Given the description of an element on the screen output the (x, y) to click on. 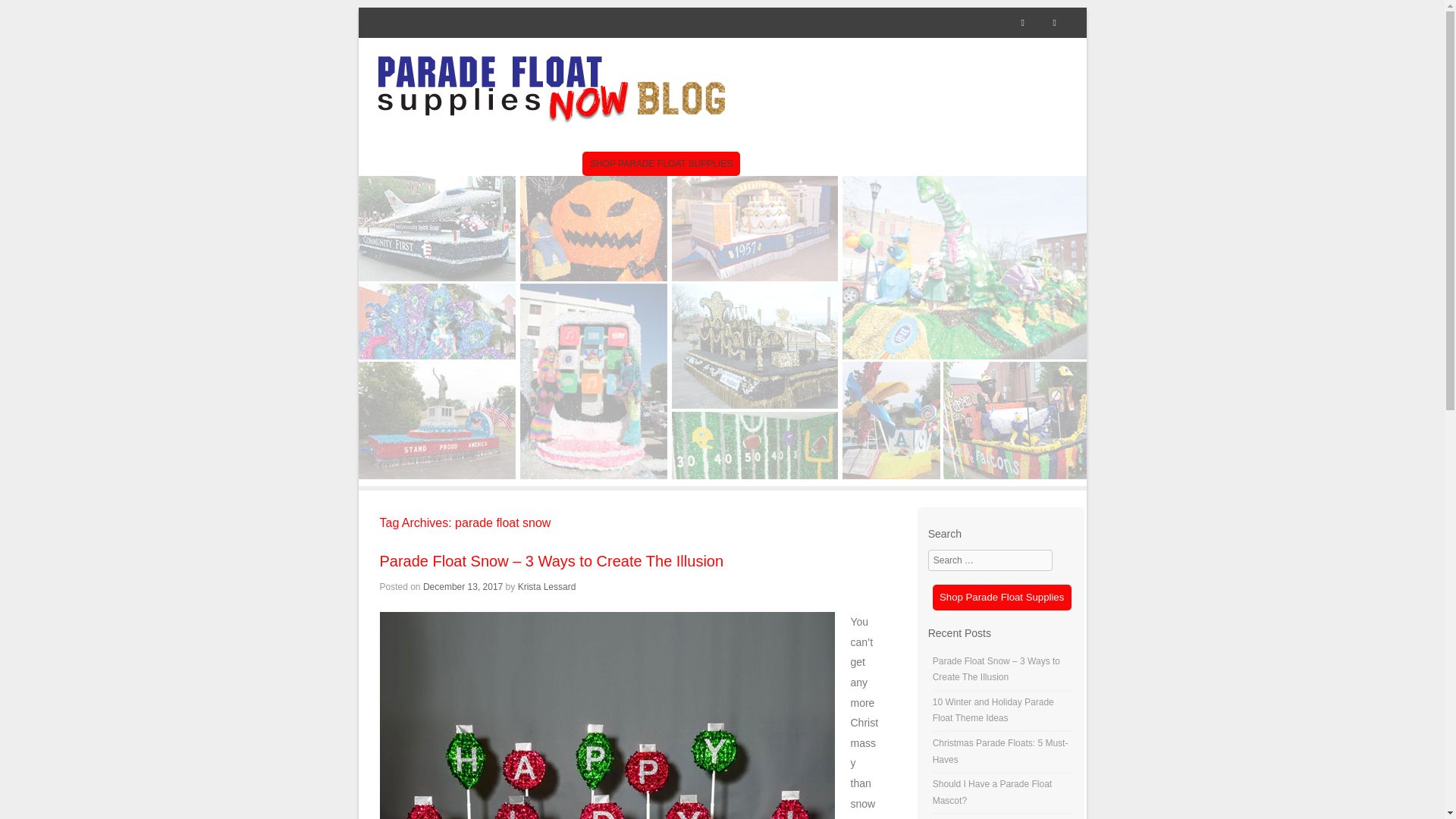
December 13, 2017 (462, 586)
Parade Float Supplies Now (722, 475)
Krista Lessard (547, 586)
SKIP TO CONTENT (630, 163)
10 Winter and Holiday Parade Float Theme Ideas (993, 709)
Skip to content (630, 163)
Shop Parade Float Supplies (1001, 596)
1:08 pm (462, 586)
Christmas Parade Floats: 5 Must-Haves (1000, 750)
Parade Float Supplies Now (550, 88)
View all posts by Krista Lessard (547, 586)
SHOP PARADE FLOAT SUPPLIES (660, 163)
Should I Have a Parade Float Mascot? (992, 791)
Search (33, 17)
